Given the description of an element on the screen output the (x, y) to click on. 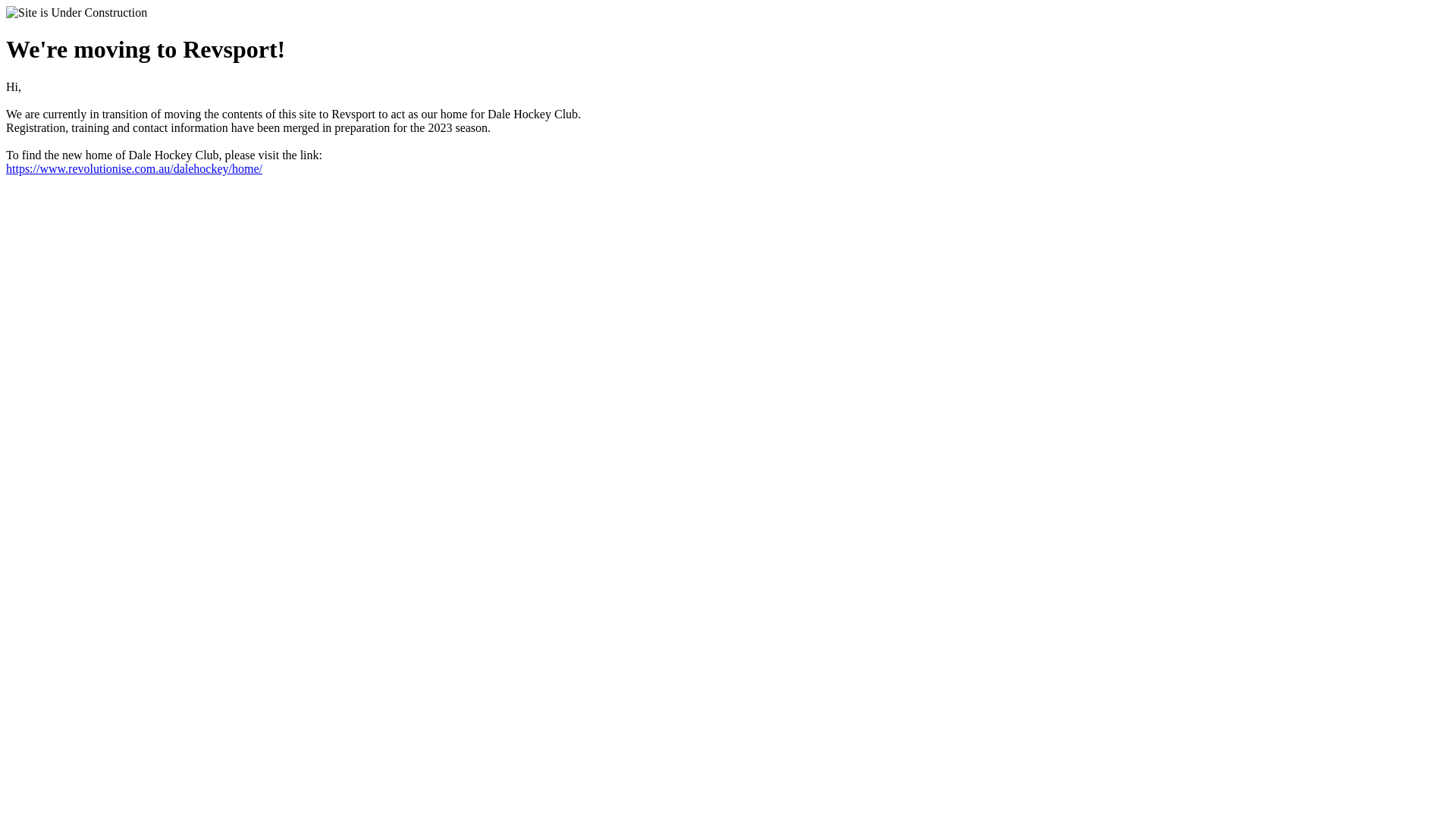
Site is Under Construction Element type: hover (76, 12)
https://www.revolutionise.com.au/dalehockey/home/ Element type: text (134, 168)
